Given the description of an element on the screen output the (x, y) to click on. 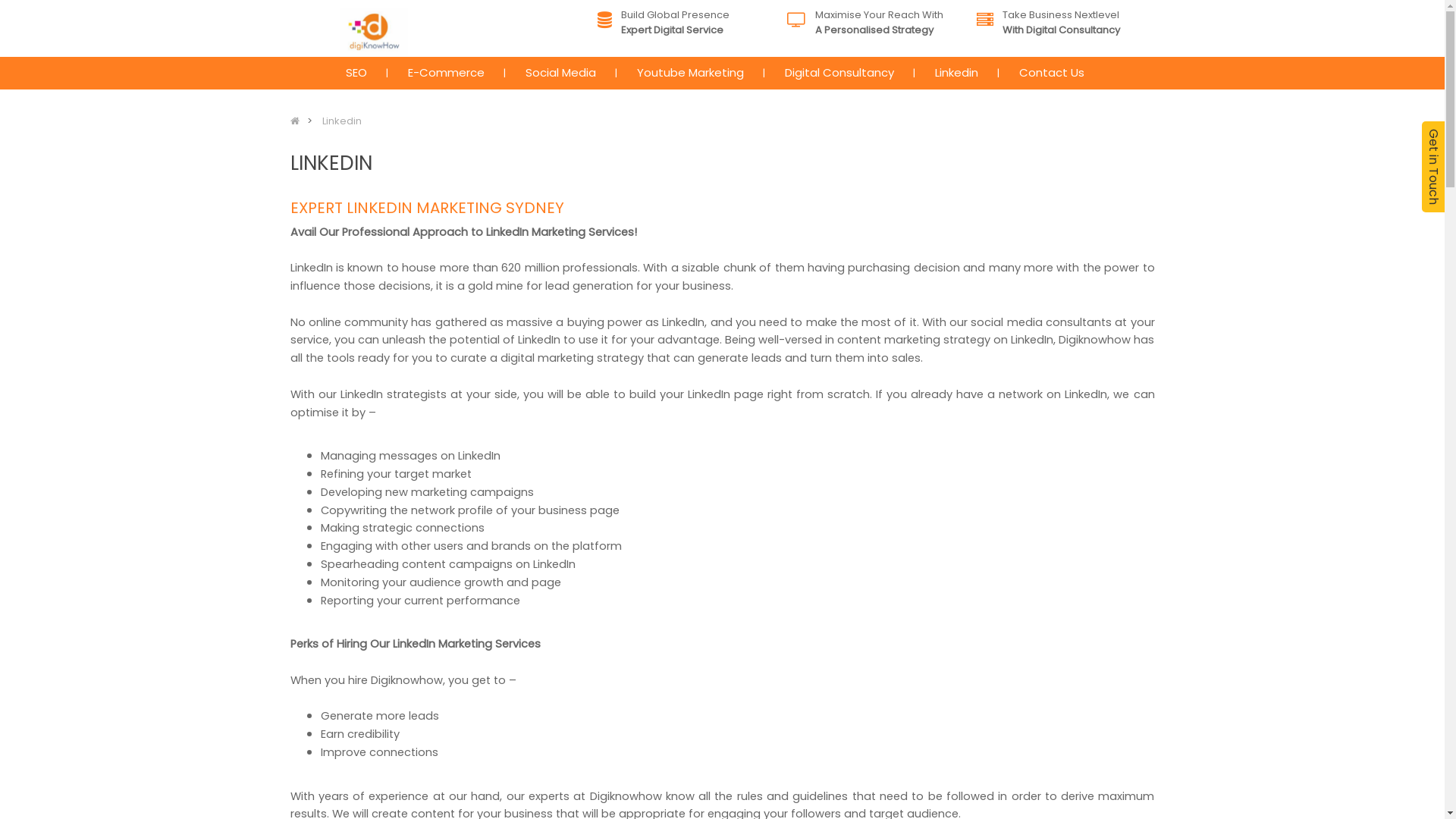
Digital Consultancy Element type: text (839, 72)
Youtube Marketing Element type: text (689, 72)
E-Commerce Element type: text (445, 72)
SEO Element type: text (355, 72)
Contact Us Element type: text (1051, 72)
Linkedin Element type: text (956, 72)
Get in Touch Element type: text (1432, 166)
Linkedin Element type: text (340, 120)
Social Media Element type: text (560, 72)
Digital Growth with Strategy Element type: hover (373, 31)
